Given the description of an element on the screen output the (x, y) to click on. 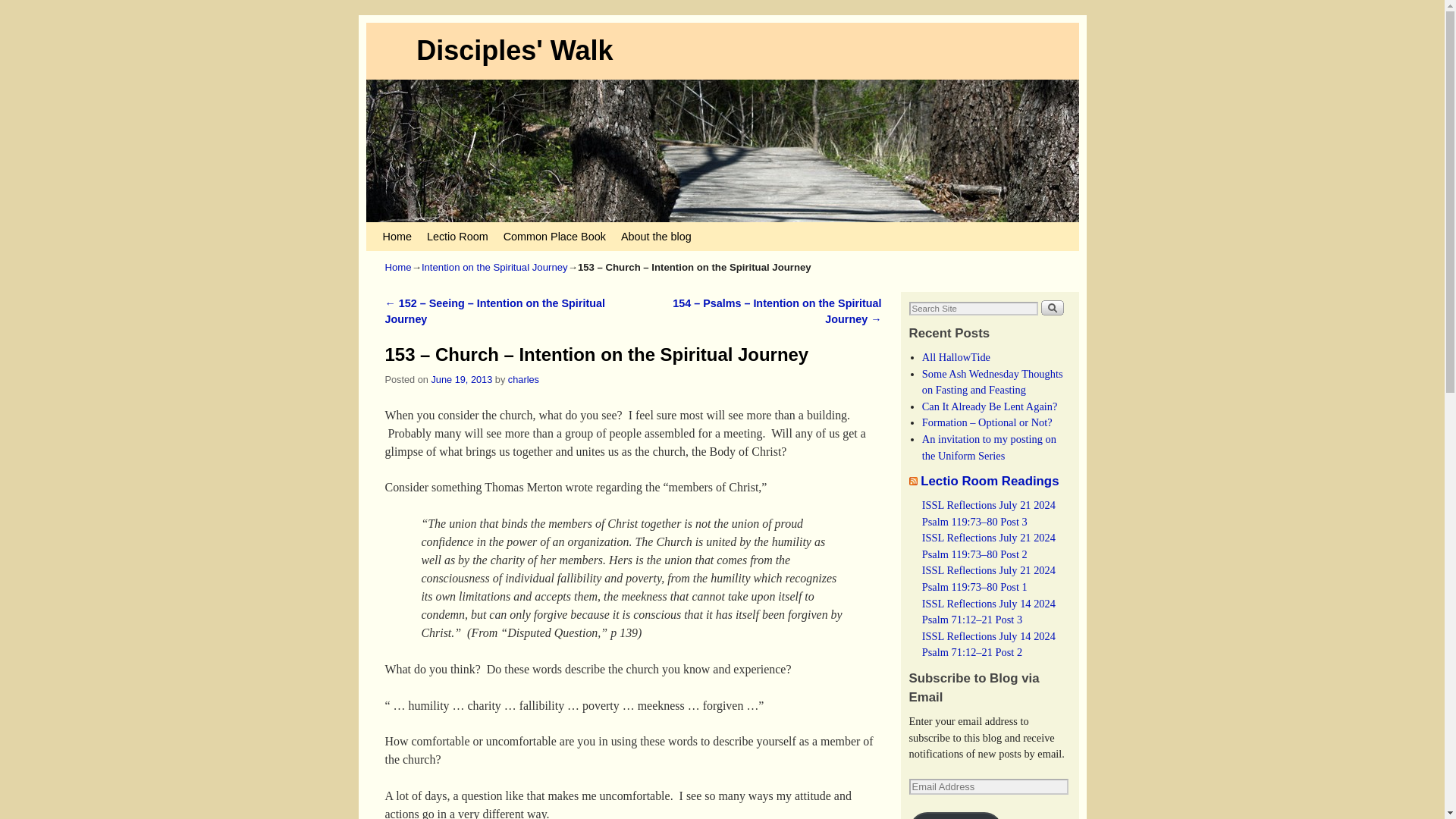
Can It Already Be Lent Again? (989, 406)
Home (398, 266)
Common Place Book (554, 235)
Some Ash Wednesday Thoughts on Fasting and Feasting (991, 381)
Lectio Room (457, 235)
6:00 pm (461, 378)
Skip to secondary content (412, 228)
All HallowTide (955, 357)
Skip to primary content (408, 228)
charles (523, 378)
An invitation to my posting on the Uniform Series (989, 447)
Disciples' Walk (514, 50)
Intention on the Spiritual Journey (494, 266)
Disciples' Walk (514, 50)
Lectio Room Readings (989, 481)
